Given the description of an element on the screen output the (x, y) to click on. 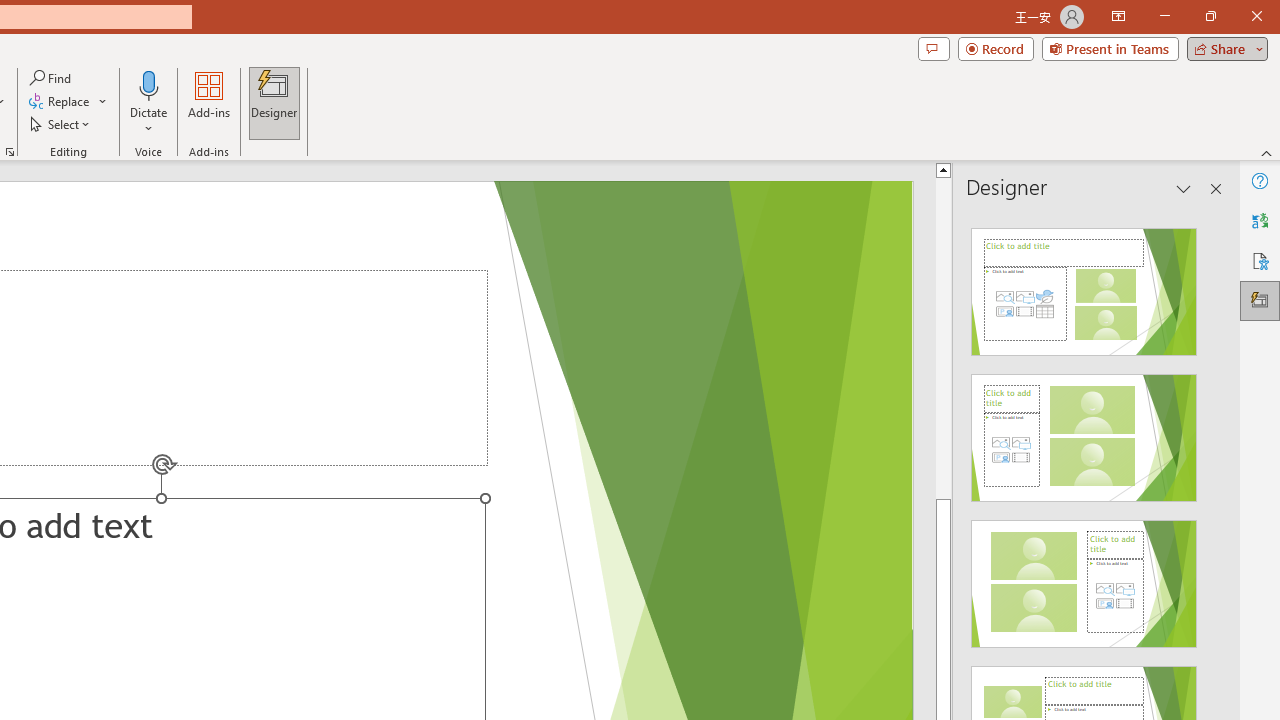
Recommended Design: Design Idea (1083, 286)
Design Idea (1083, 577)
